Given the description of an element on the screen output the (x, y) to click on. 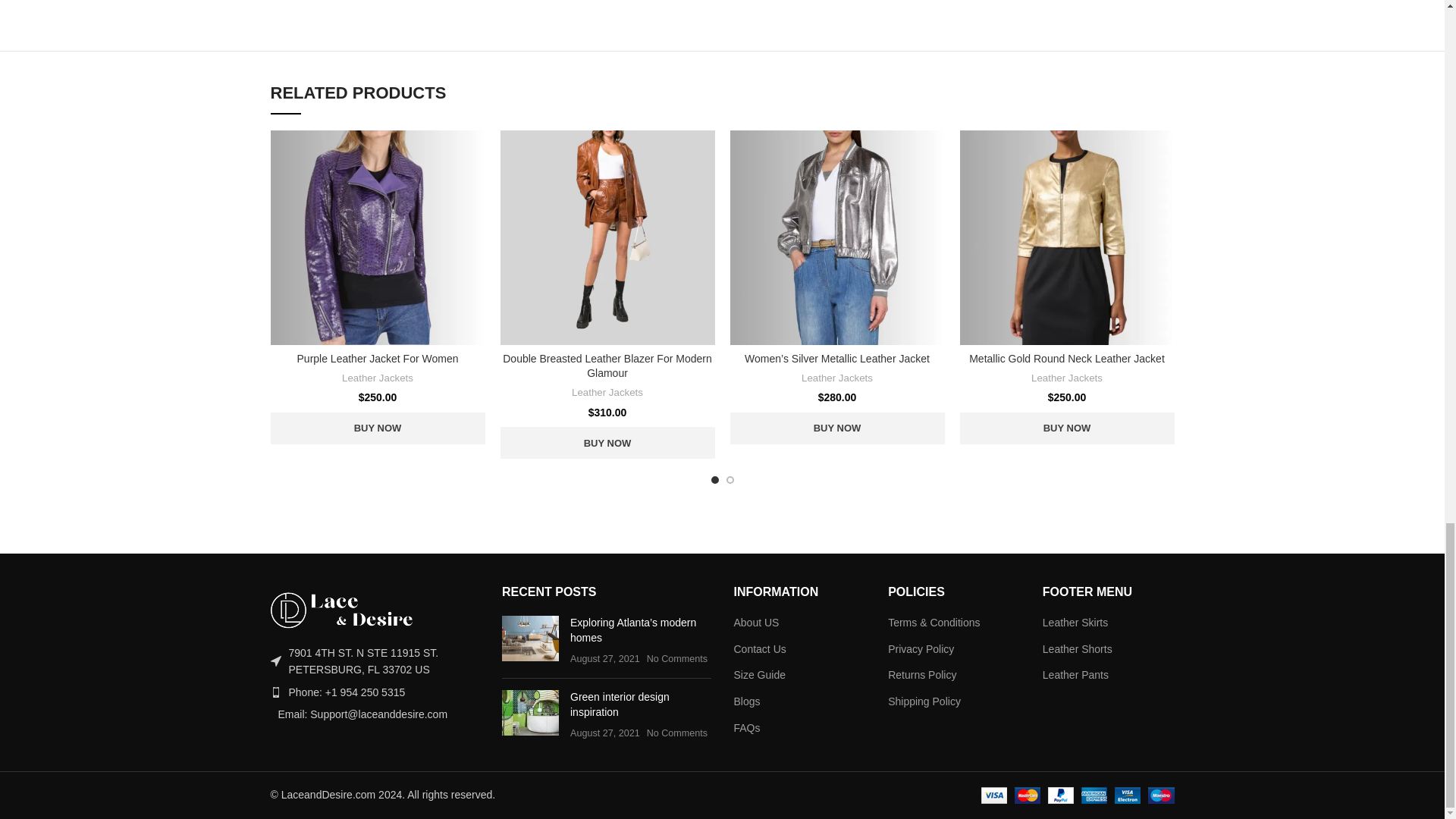
wd-cursor-light (275, 661)
Permalink to Green interior design inspiration (619, 704)
wd-phone-light (275, 692)
